Given the description of an element on the screen output the (x, y) to click on. 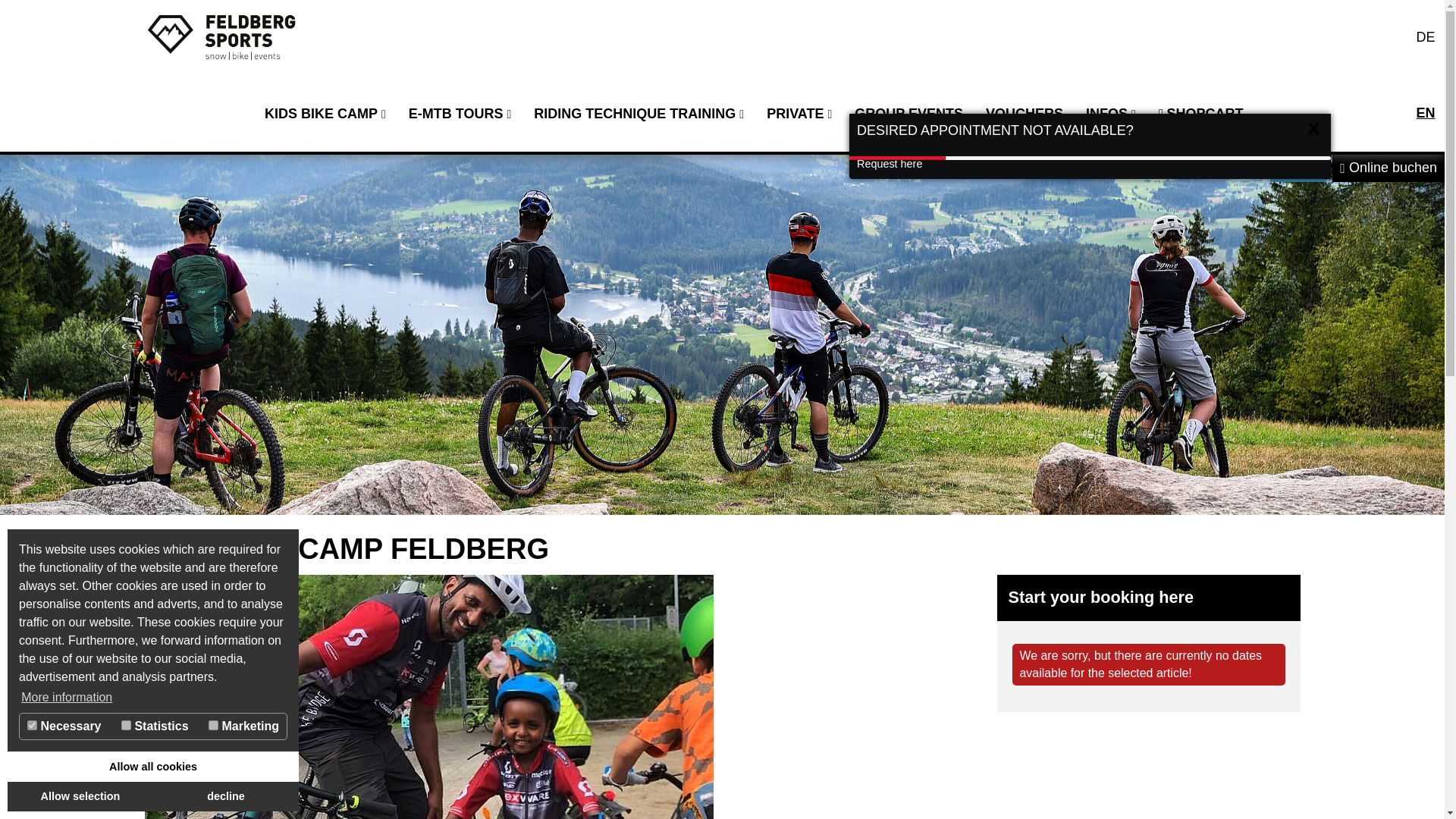
PRIVATE (799, 113)
SHOPCART (1201, 113)
INFOS (1110, 113)
Kids Bike Camp (325, 113)
KIDS BIKE CAMP (325, 113)
VOUCHERS (1024, 113)
GROUP EVENTS (908, 113)
Winter (1296, 167)
E-MTB TOURS (459, 113)
E-MTB tours (459, 113)
RIDING TECHNIQUE TRAINING (638, 113)
